Given the description of an element on the screen output the (x, y) to click on. 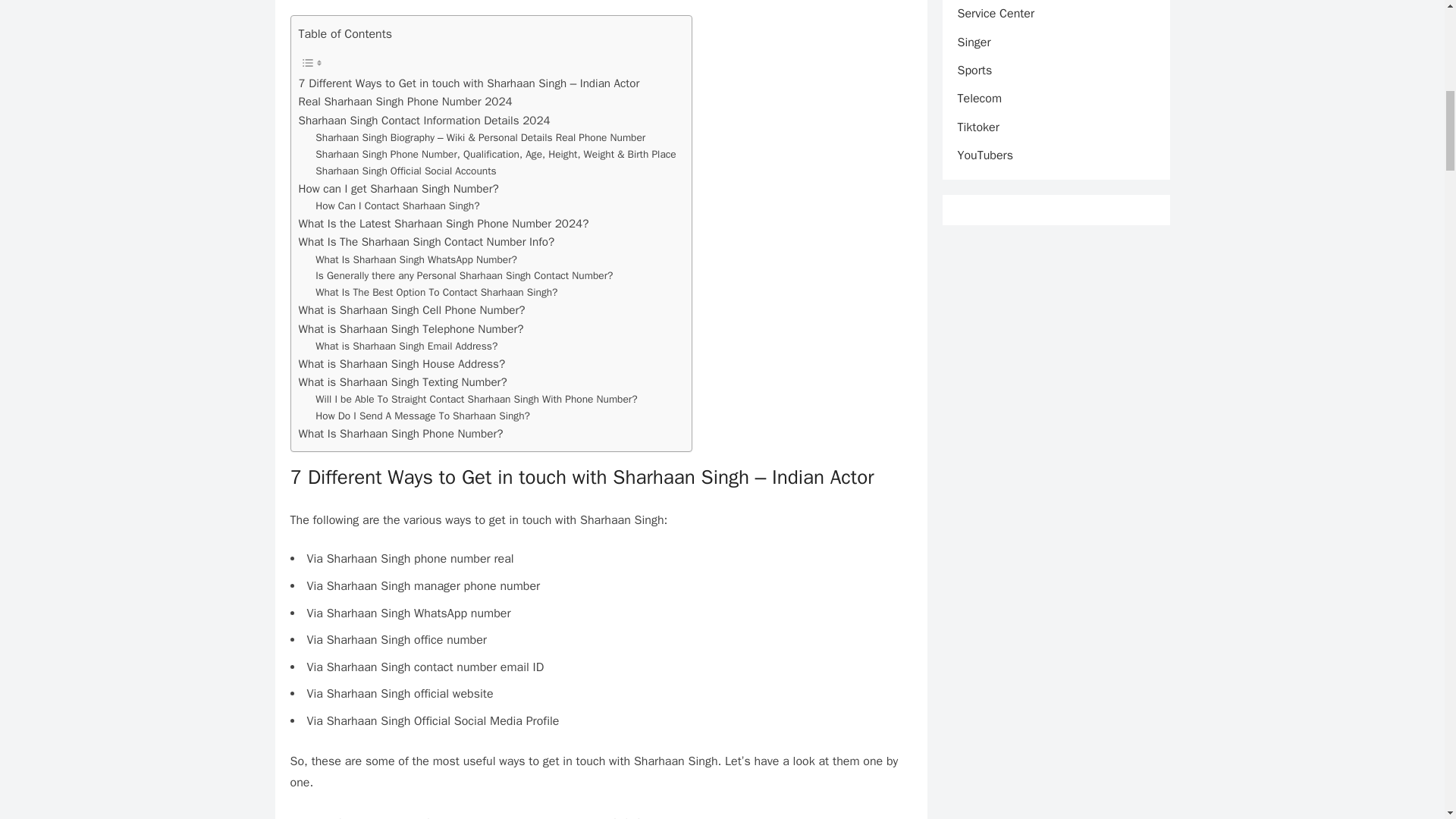
How can I get Sharhaan Singh Number? (398, 188)
What is Sharhaan Singh Email Address? (406, 346)
What Is the Latest Sharhaan Singh Phone Number 2024? (443, 223)
How Can I Contact Sharhaan Singh? (397, 206)
What Is The Sharhaan Singh Contact Number Info? (426, 241)
How can I get Sharhaan Singh Number? (398, 188)
What Is The Best Option To Contact Sharhaan Singh? (436, 292)
Sharhaan Singh Contact Information Details 2024 (424, 120)
What Is Sharhaan Singh WhatsApp Number? (415, 259)
